Given the description of an element on the screen output the (x, y) to click on. 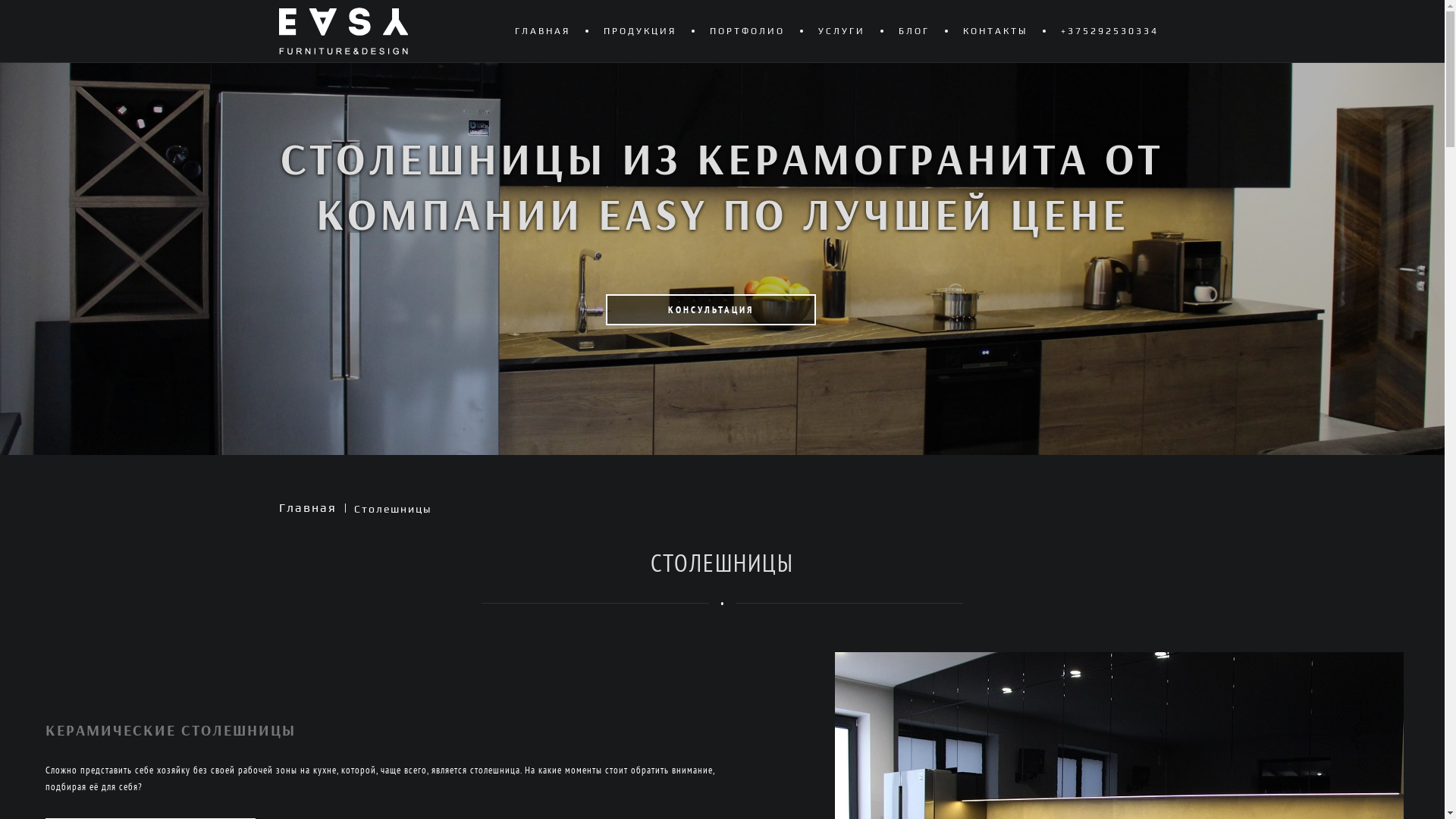
+375292530334 Element type: text (1108, 31)
